Given the description of an element on the screen output the (x, y) to click on. 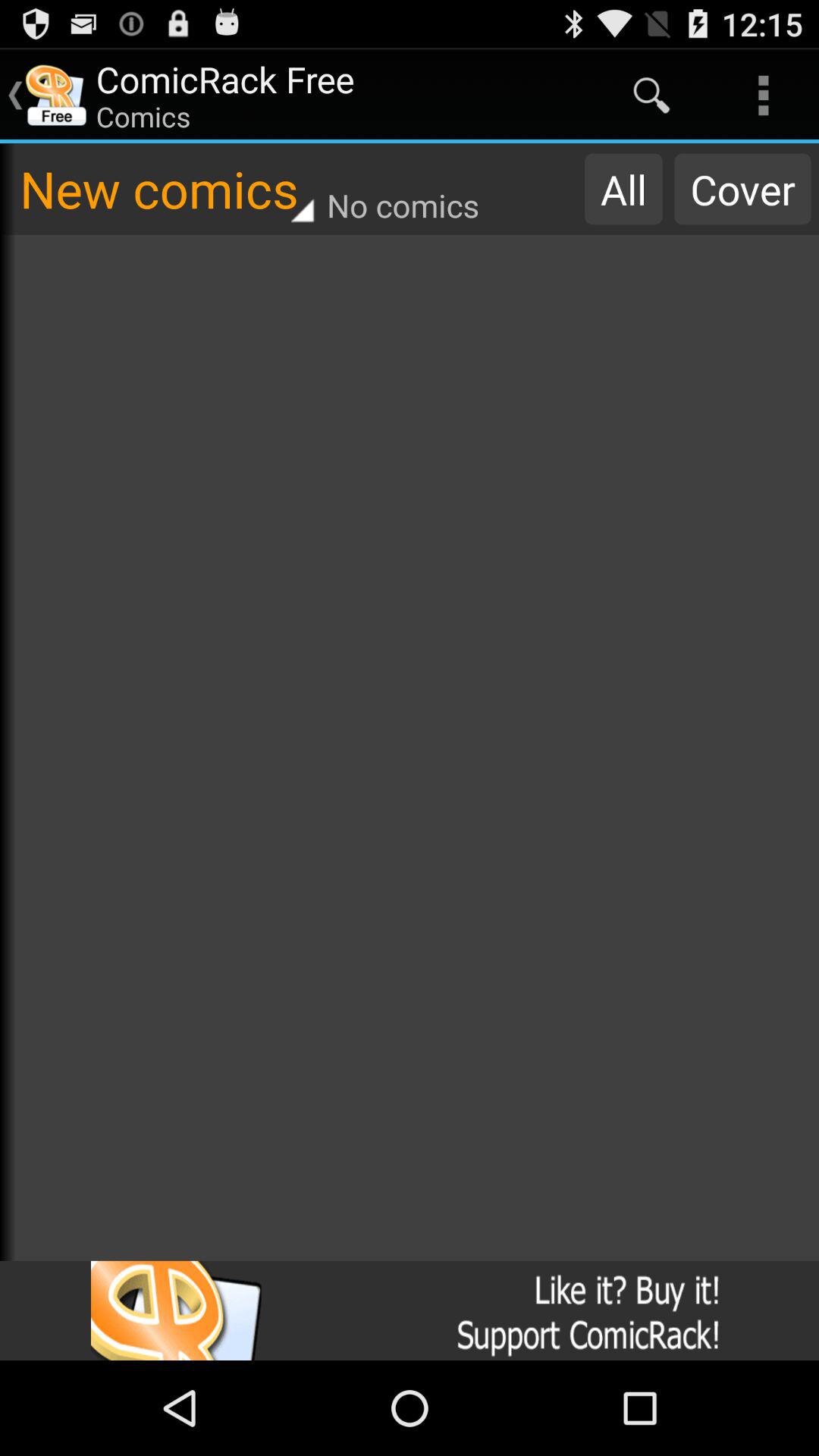
launch all icon (623, 188)
